Given the description of an element on the screen output the (x, y) to click on. 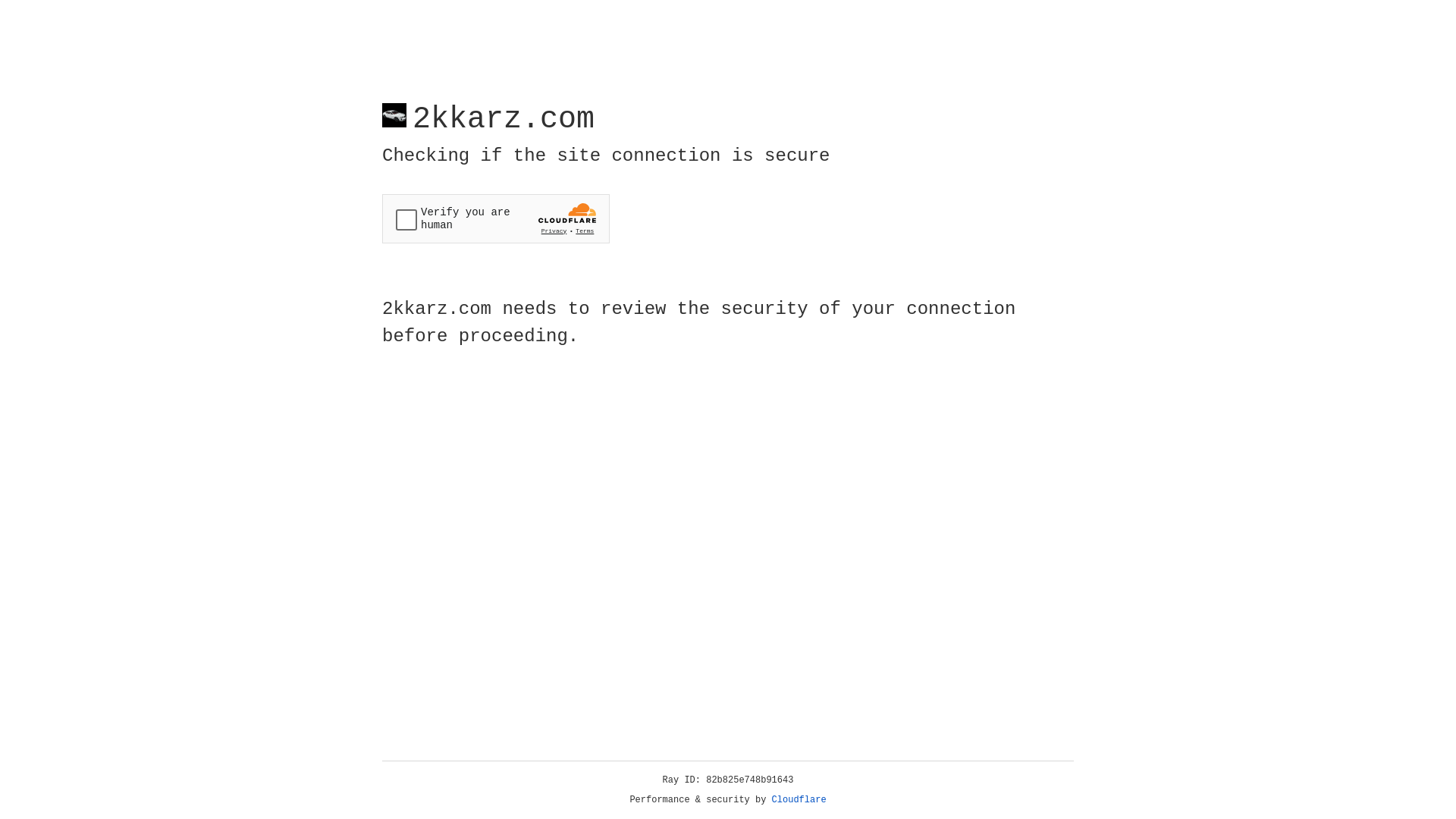
Cloudflare Element type: text (798, 799)
Widget containing a Cloudflare security challenge Element type: hover (495, 218)
